Given the description of an element on the screen output the (x, y) to click on. 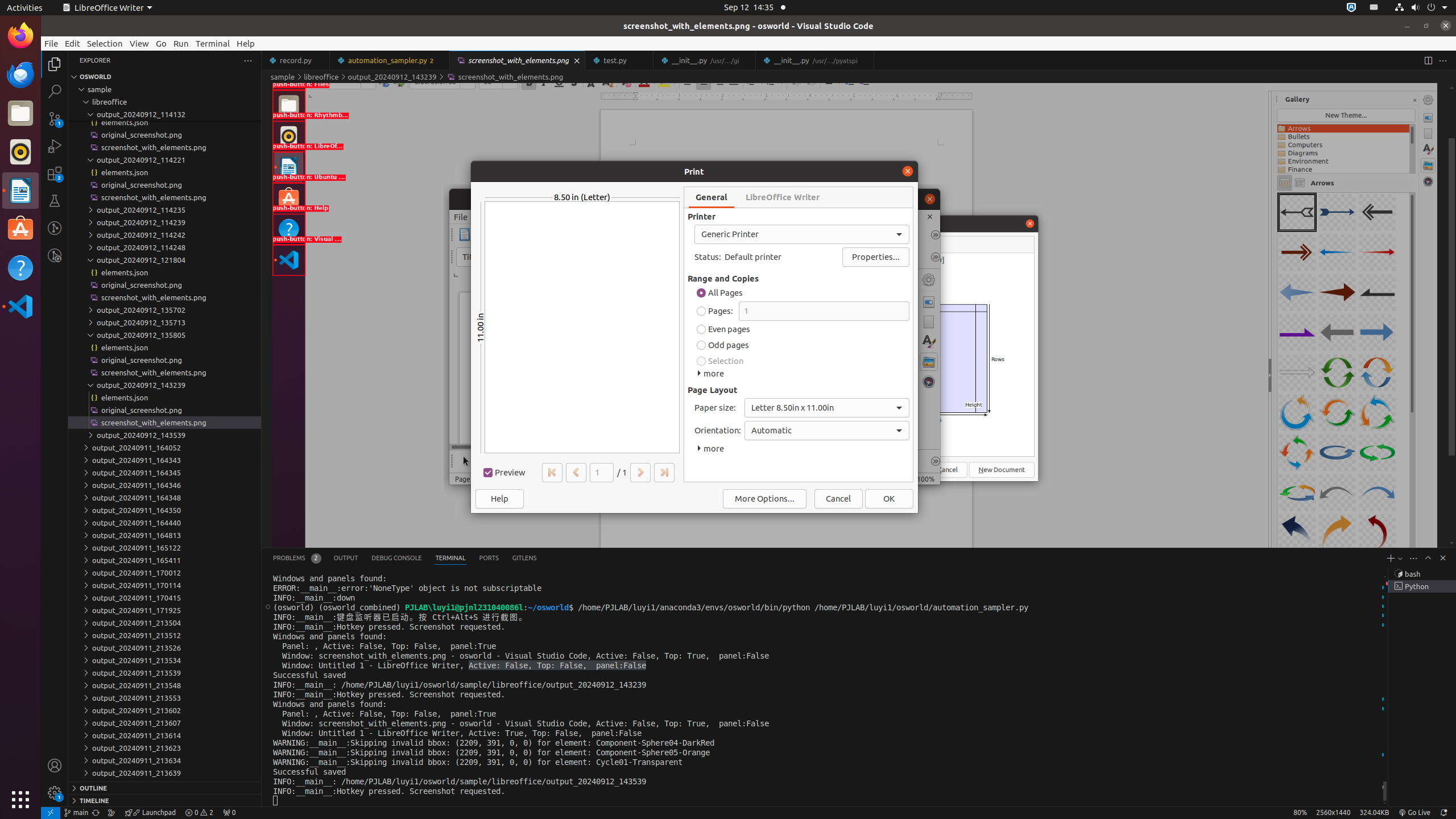
Visual Studio Code Element type: push-button (20, 306)
Firefox Web Browser Element type: push-button (20, 35)
:1.72/StatusNotifierItem Element type: menu (1350, 7)
